Given the description of an element on the screen output the (x, y) to click on. 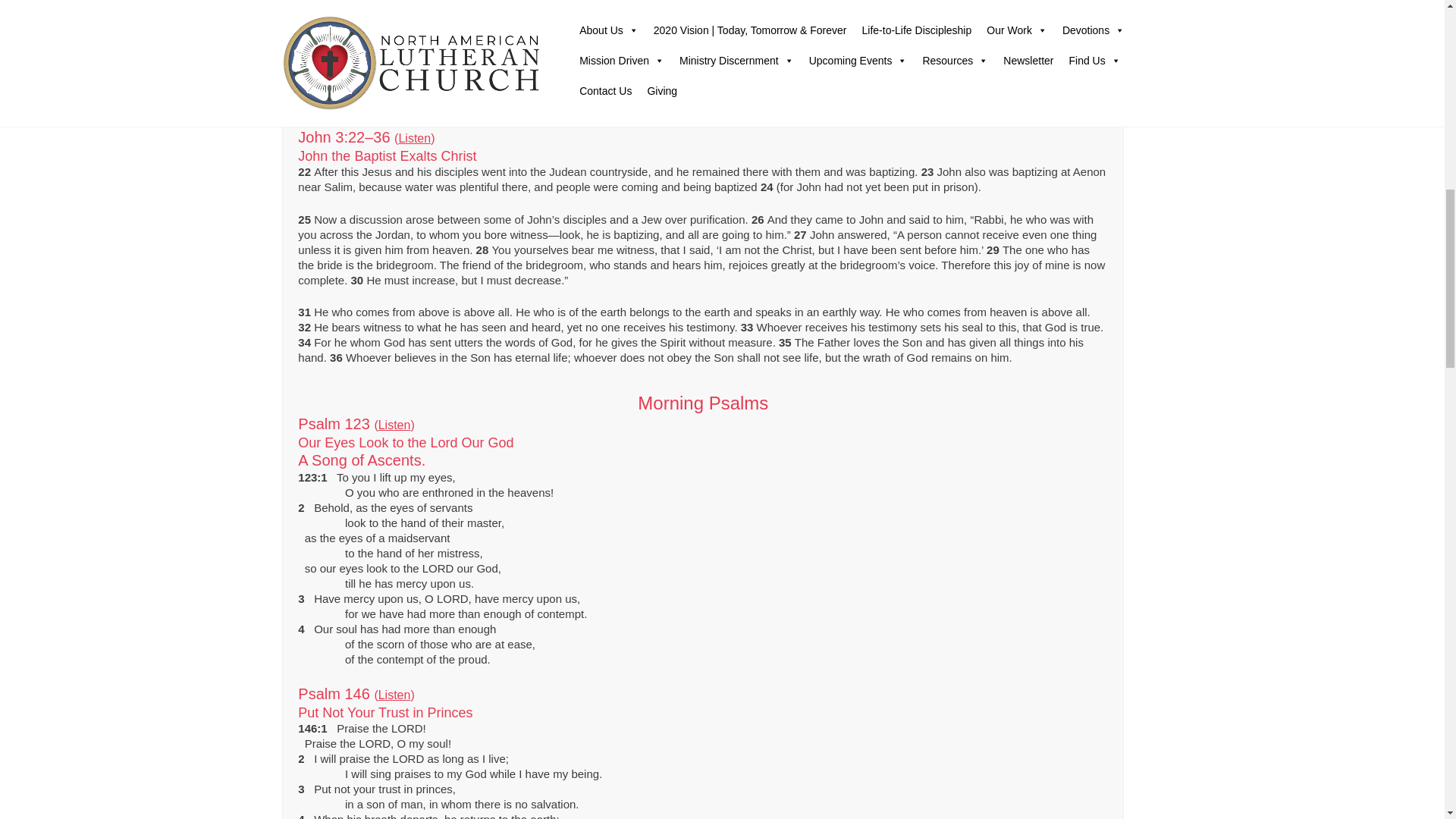
Psalm 146 (394, 694)
Psalm 123 (394, 424)
